Given the description of an element on the screen output the (x, y) to click on. 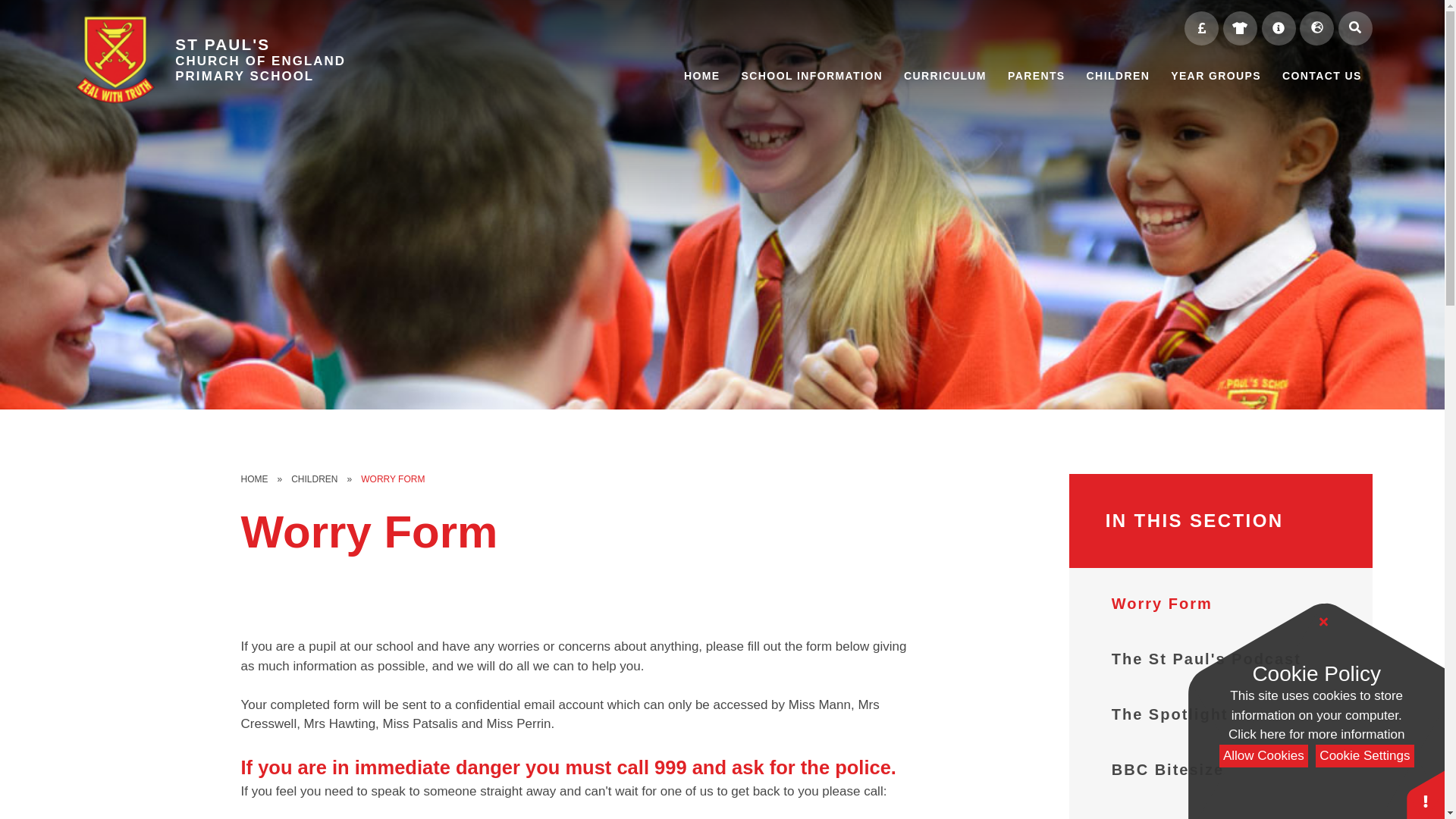
SCHOOL INFORMATION (811, 75)
HOME (701, 75)
See cookie policy (1316, 734)
Cookie Settings (1364, 756)
Allow Cookies (1263, 756)
